Given the description of an element on the screen output the (x, y) to click on. 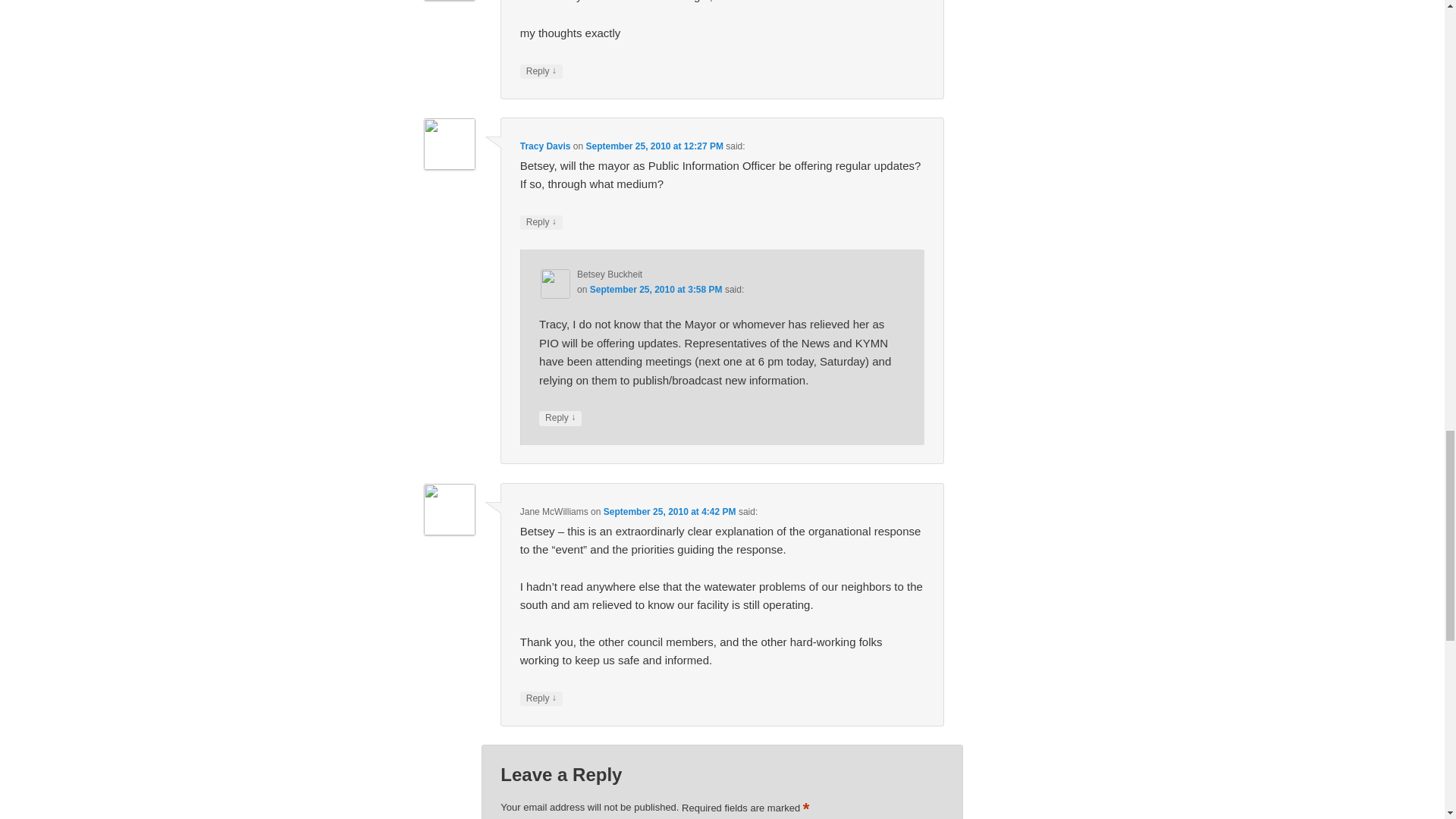
September 25, 2010 at 4:42 PM (670, 511)
September 25, 2010 at 3:58 PM (655, 289)
Tracy Davis (544, 145)
September 25, 2010 at 12:27 PM (653, 145)
